Given the description of an element on the screen output the (x, y) to click on. 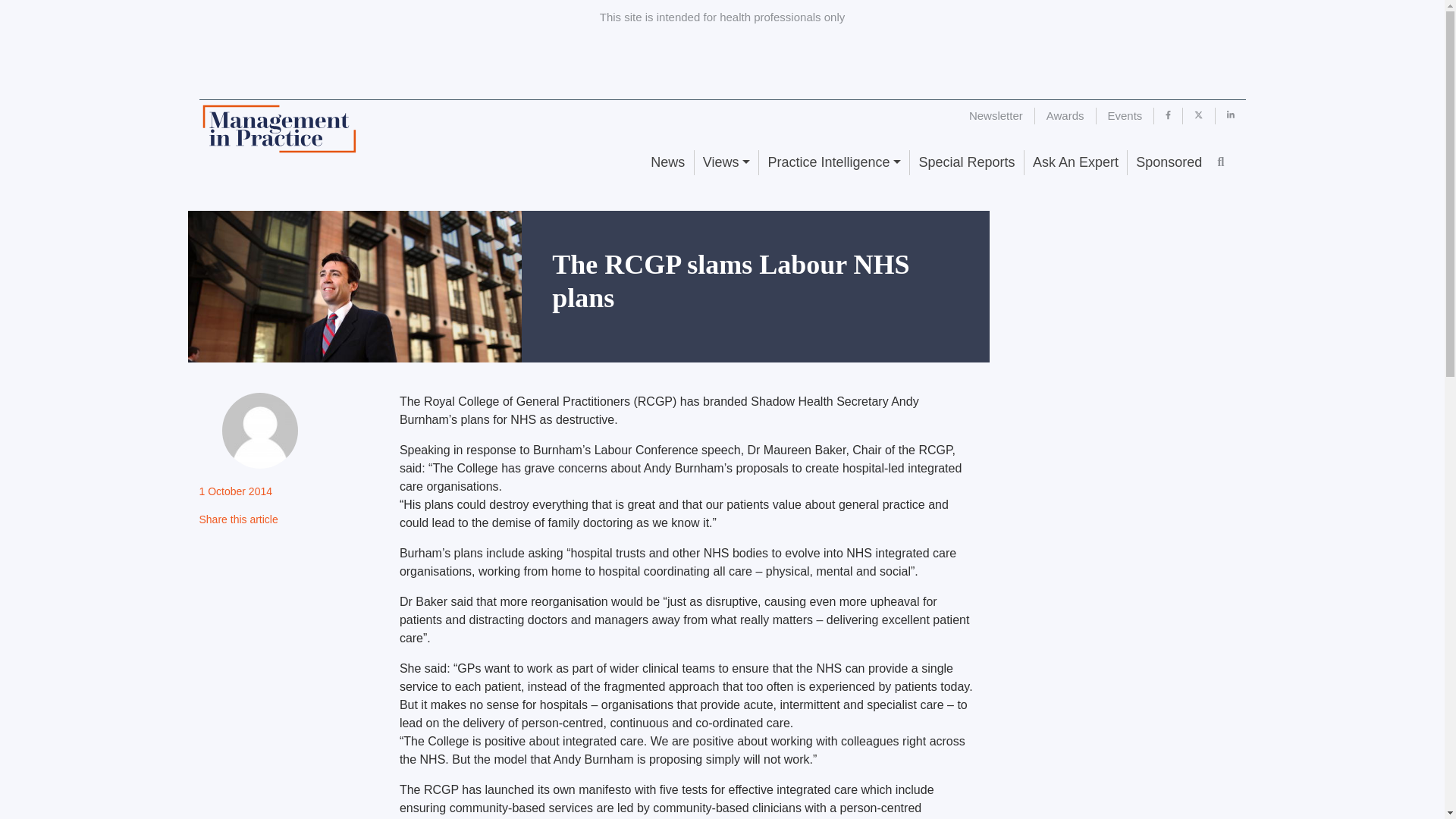
Views (726, 162)
Awards (1065, 115)
Sponsored (1167, 162)
Special Reports (966, 162)
Newsletter (996, 115)
Practice Intelligence (833, 162)
Ask An Expert (1075, 162)
News (667, 162)
Events (1125, 115)
